Given the description of an element on the screen output the (x, y) to click on. 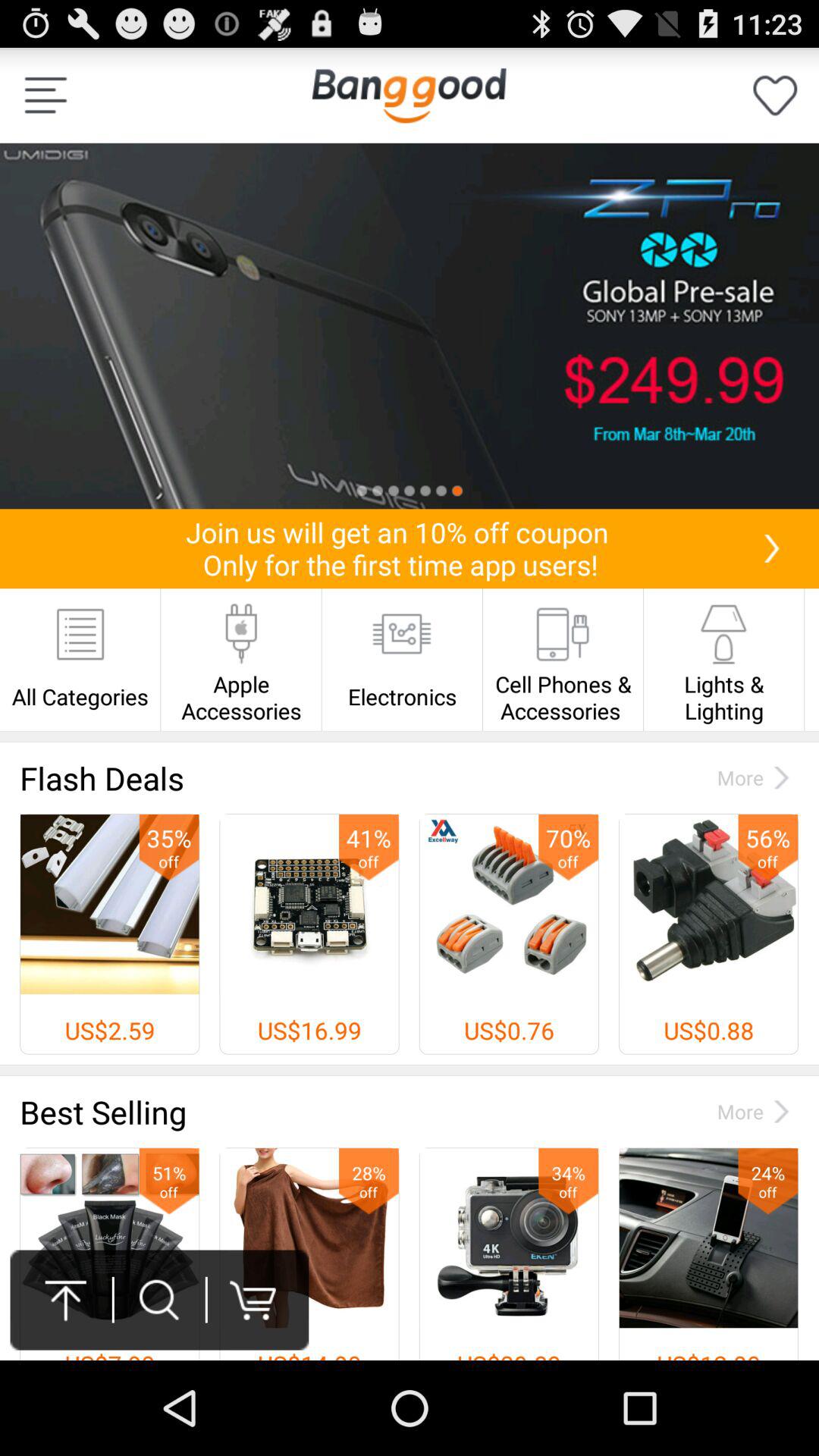
screenshot of mobile searched (409, 326)
